Given the description of an element on the screen output the (x, y) to click on. 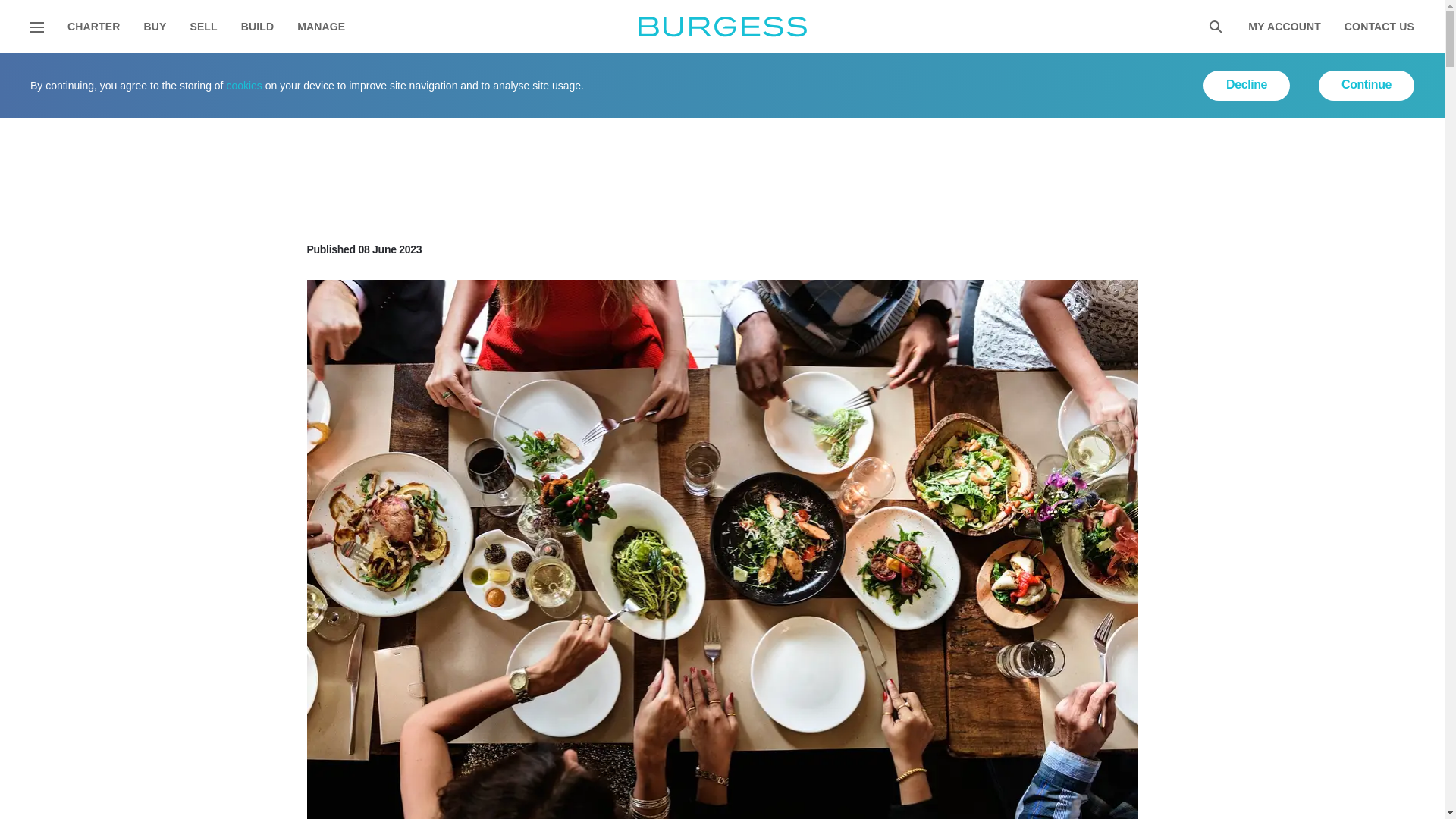
BUY (153, 26)
Open the search panel (1214, 26)
cookies (243, 85)
Decline (1247, 85)
CHARTER (92, 26)
MY ACCOUNT (1283, 26)
Continue (1366, 85)
News (177, 72)
Editorial (116, 72)
SELL (202, 26)
